Given the description of an element on the screen output the (x, y) to click on. 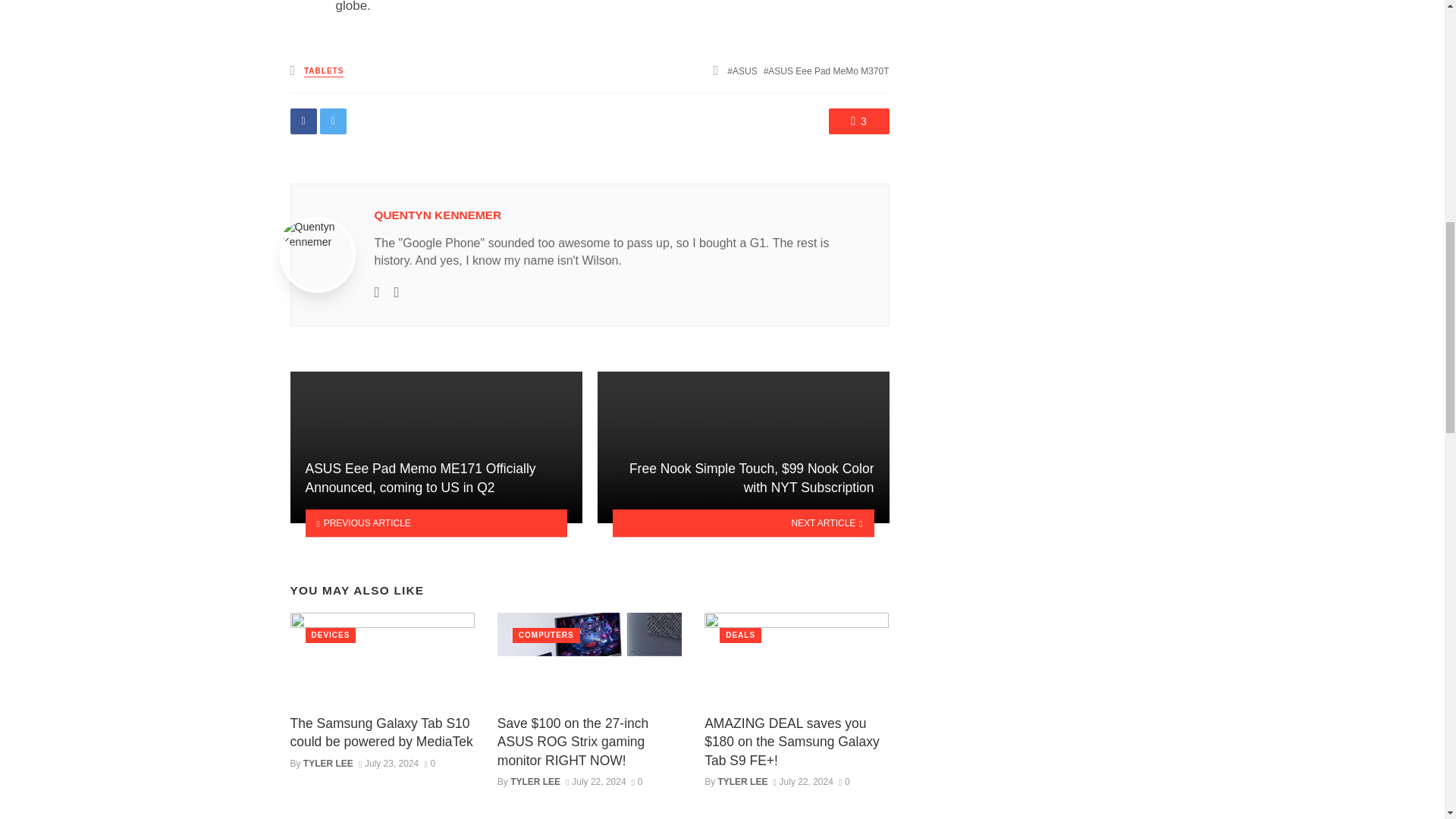
July 22, 2024 at 6:47 am (802, 781)
0 Comments (637, 781)
Share on Facebook (302, 121)
3 Comments (858, 121)
July 22, 2024 at 7:02 am (596, 781)
ASUS Eee Pad MeMo M370T (825, 71)
PREVIOUS ARTICLE (434, 523)
QUENTYN KENNEMER (438, 214)
ASUS (741, 71)
Posts by Quentyn Kennemer (438, 214)
0 Comments (844, 781)
Share on Twitter (333, 121)
0 Comments (429, 763)
TABLETS (323, 71)
3 (858, 121)
